Given the description of an element on the screen output the (x, y) to click on. 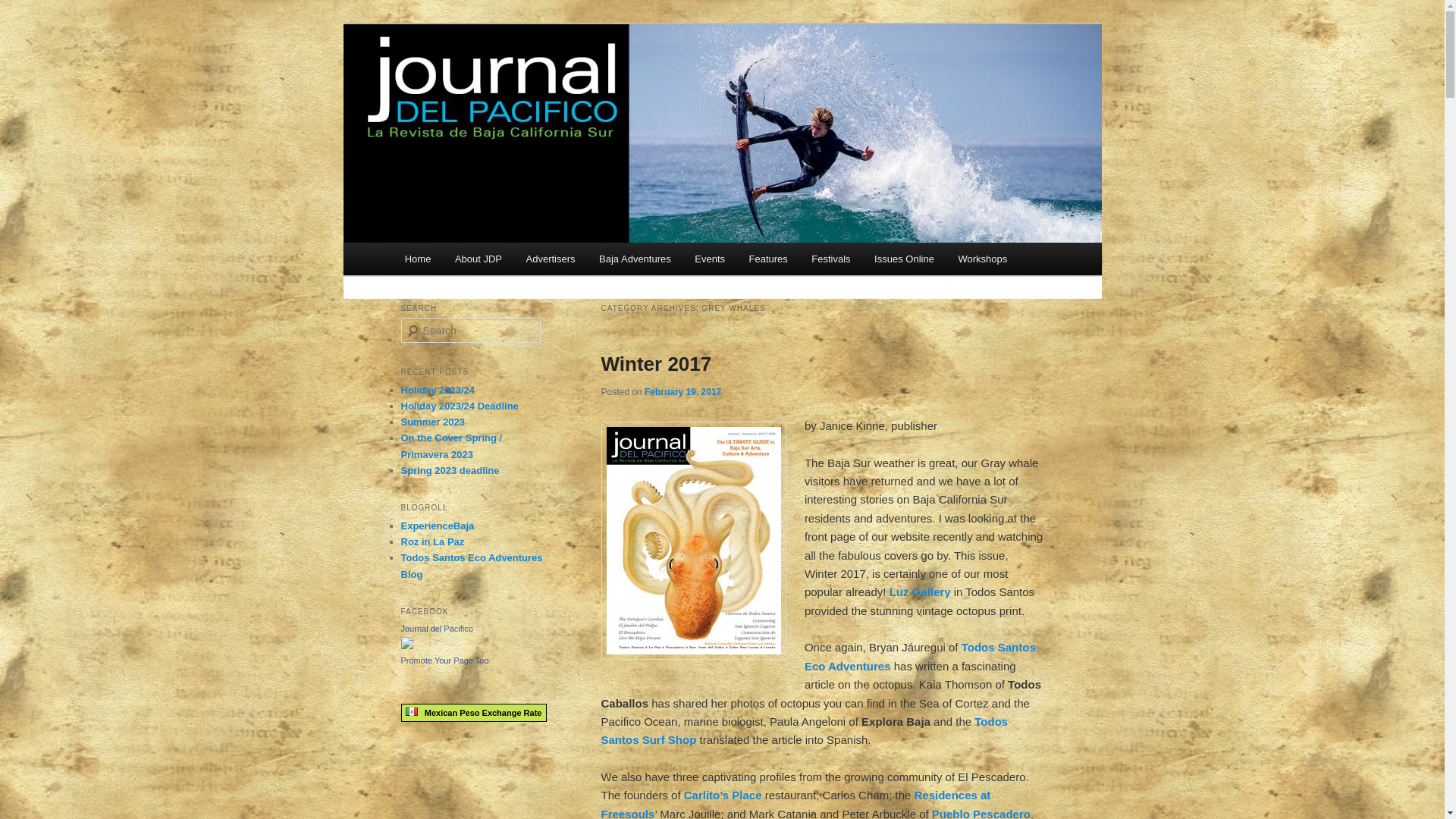
About JDP (477, 258)
Journal del Pacifico (507, 78)
4:01 pm (682, 391)
Advertisers (550, 258)
Journal del Pacifico (507, 78)
Events (709, 258)
Baja Adventures (634, 258)
Features (767, 258)
